Given the description of an element on the screen output the (x, y) to click on. 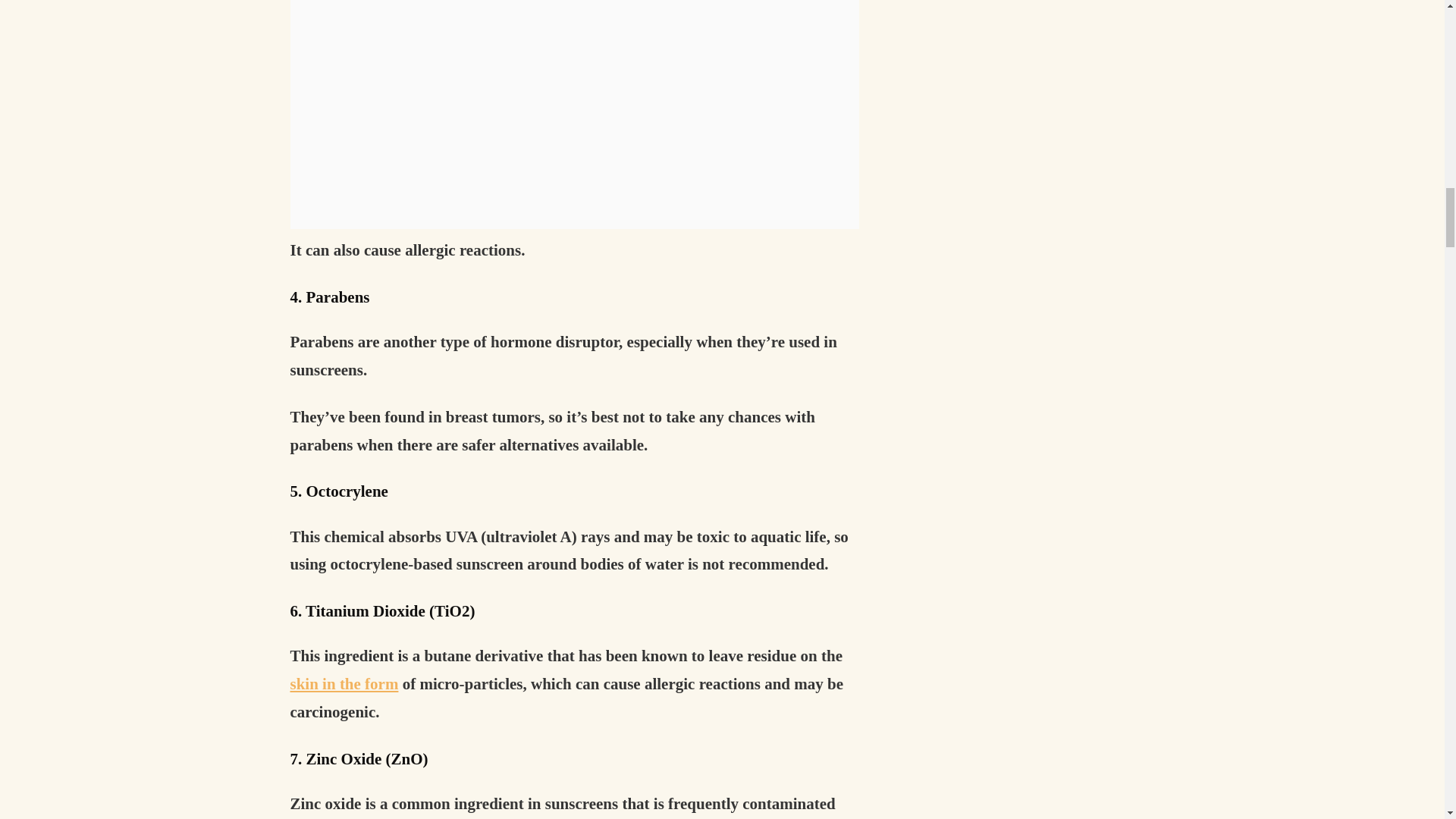
skin in the form (343, 683)
